Given the description of an element on the screen output the (x, y) to click on. 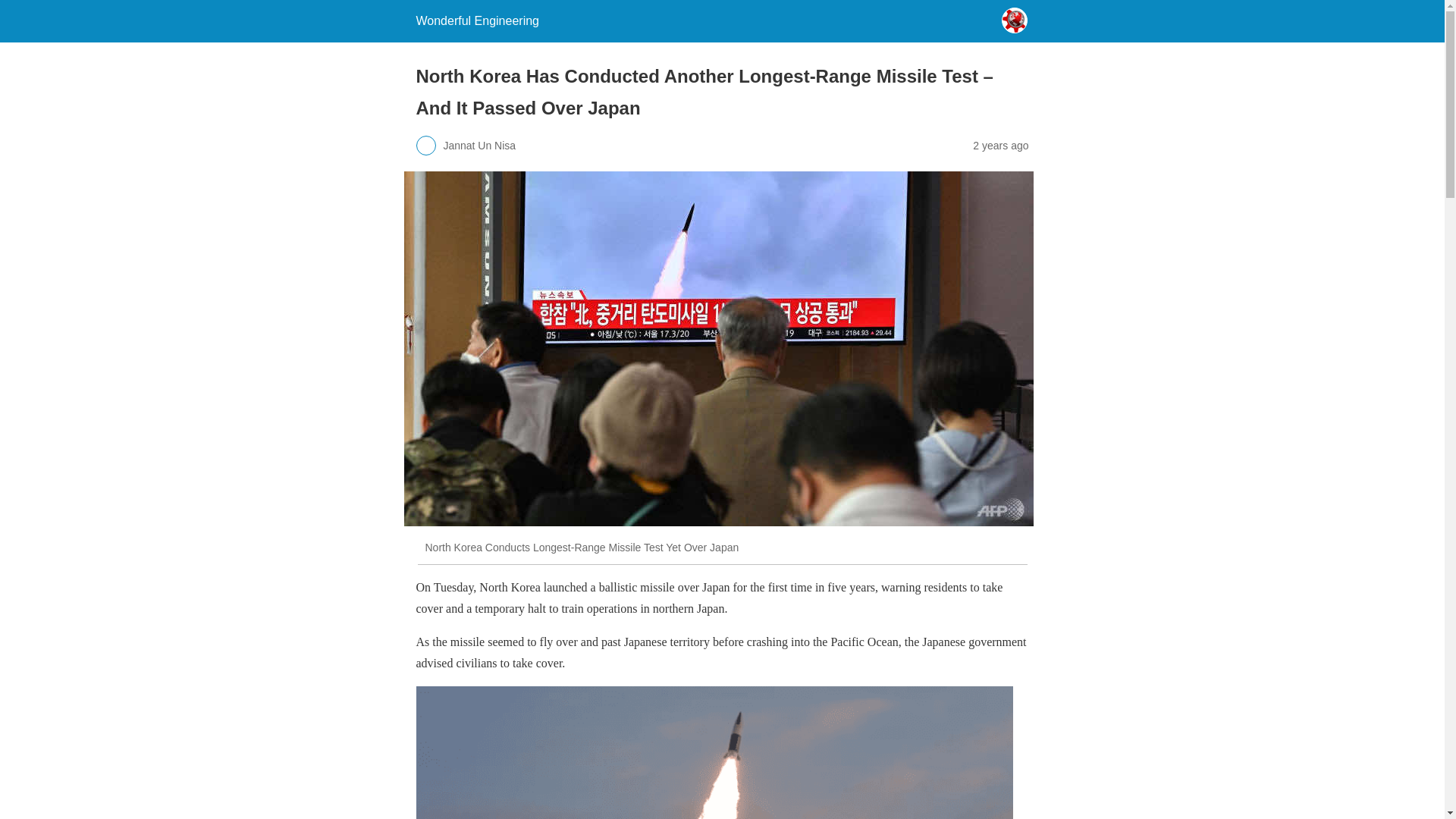
Wonderful Engineering (476, 20)
